Given the description of an element on the screen output the (x, y) to click on. 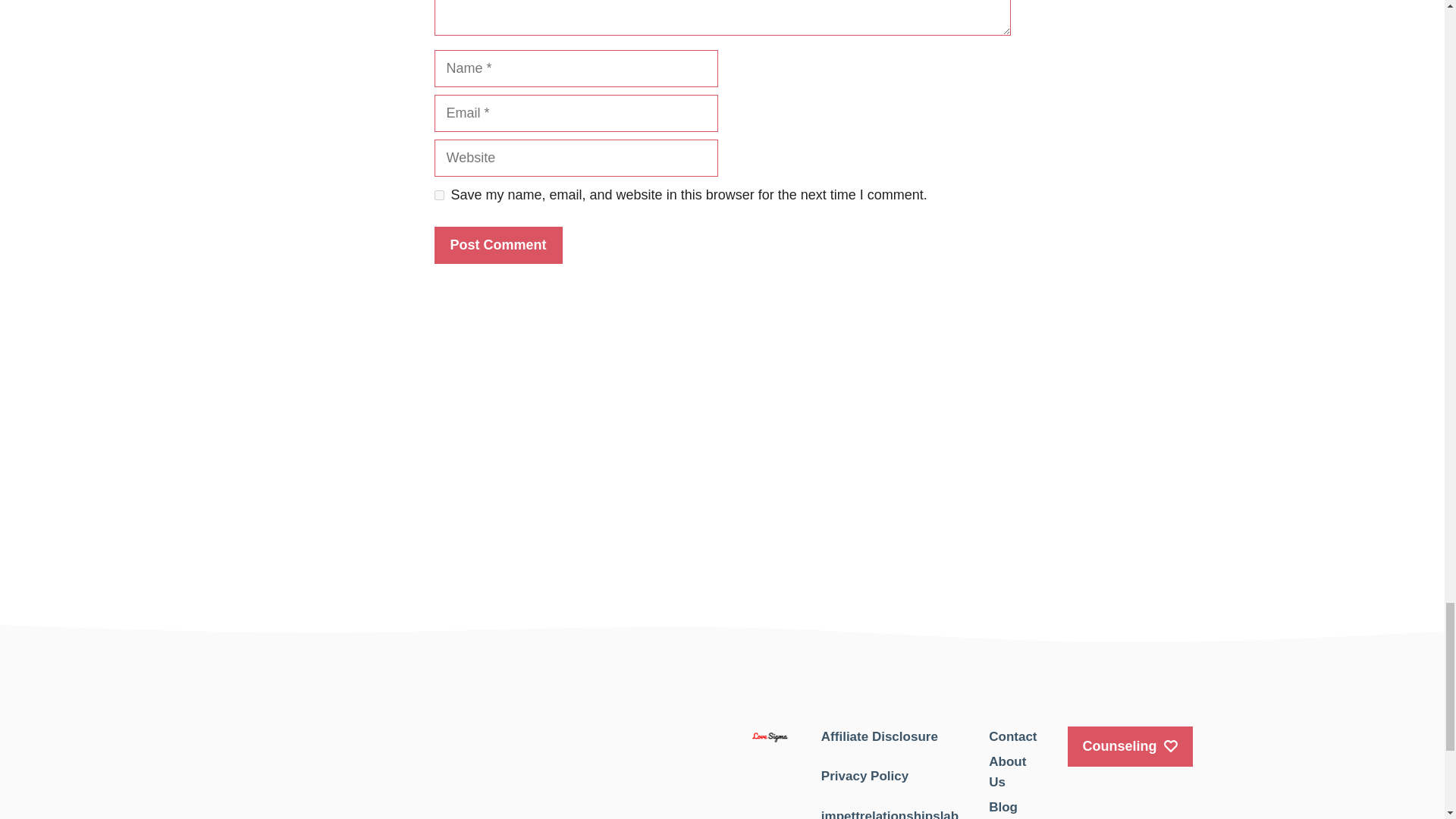
Privacy Policy (864, 775)
Post Comment (497, 244)
Post Comment (497, 244)
yes (438, 194)
Affiliate Disclosure (879, 736)
